Given the description of an element on the screen output the (x, y) to click on. 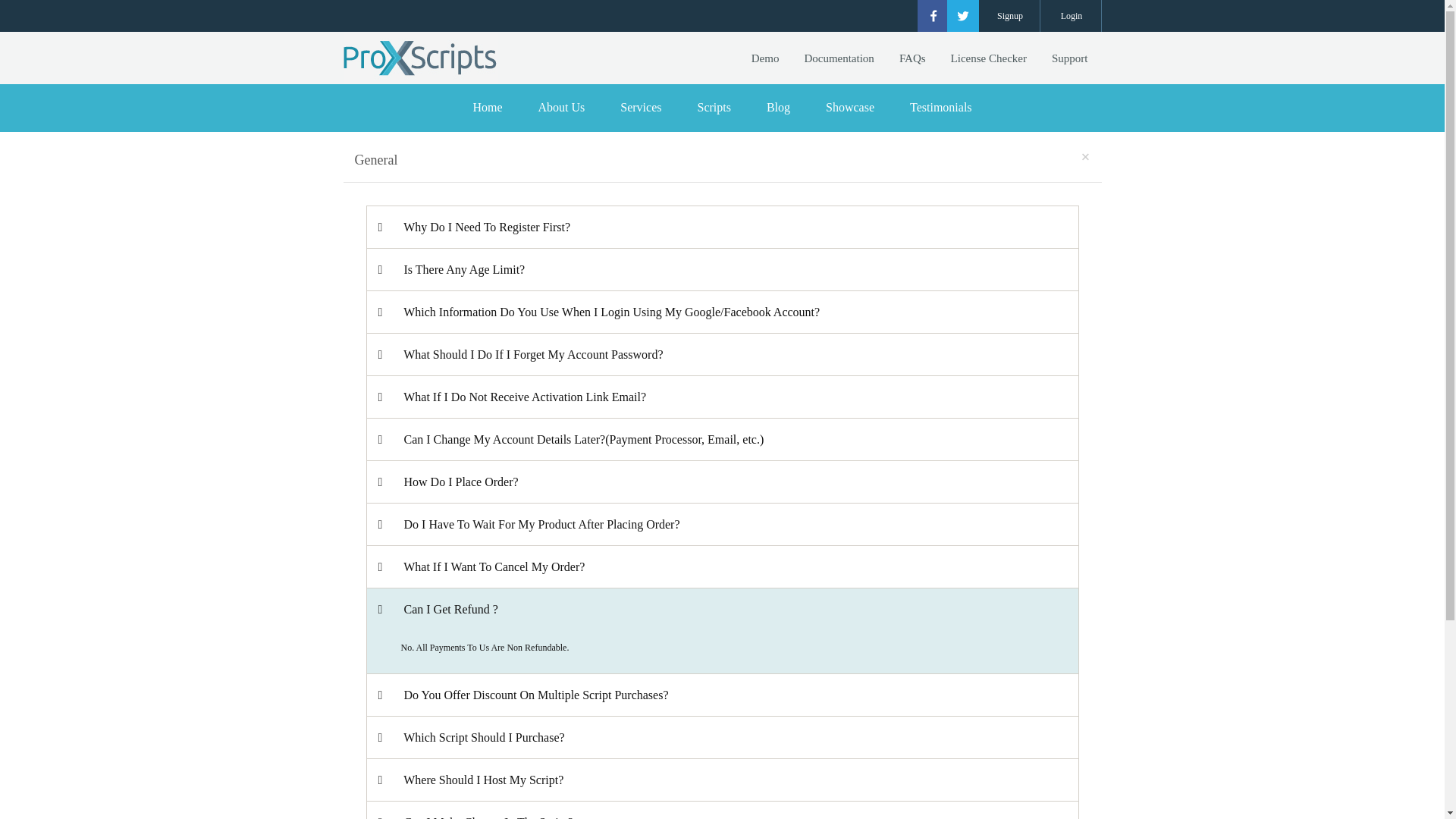
What If I Want To Cancel My Order? (722, 567)
Demo (764, 58)
About Us (561, 107)
License Checker (988, 58)
Do You Offer Discount On Multiple Script Purchases? (722, 695)
Testimonials (940, 107)
Home (486, 107)
Can I Get Refund ? (722, 608)
Signup (1011, 15)
Where Should I Host My Script? (722, 780)
